Given the description of an element on the screen output the (x, y) to click on. 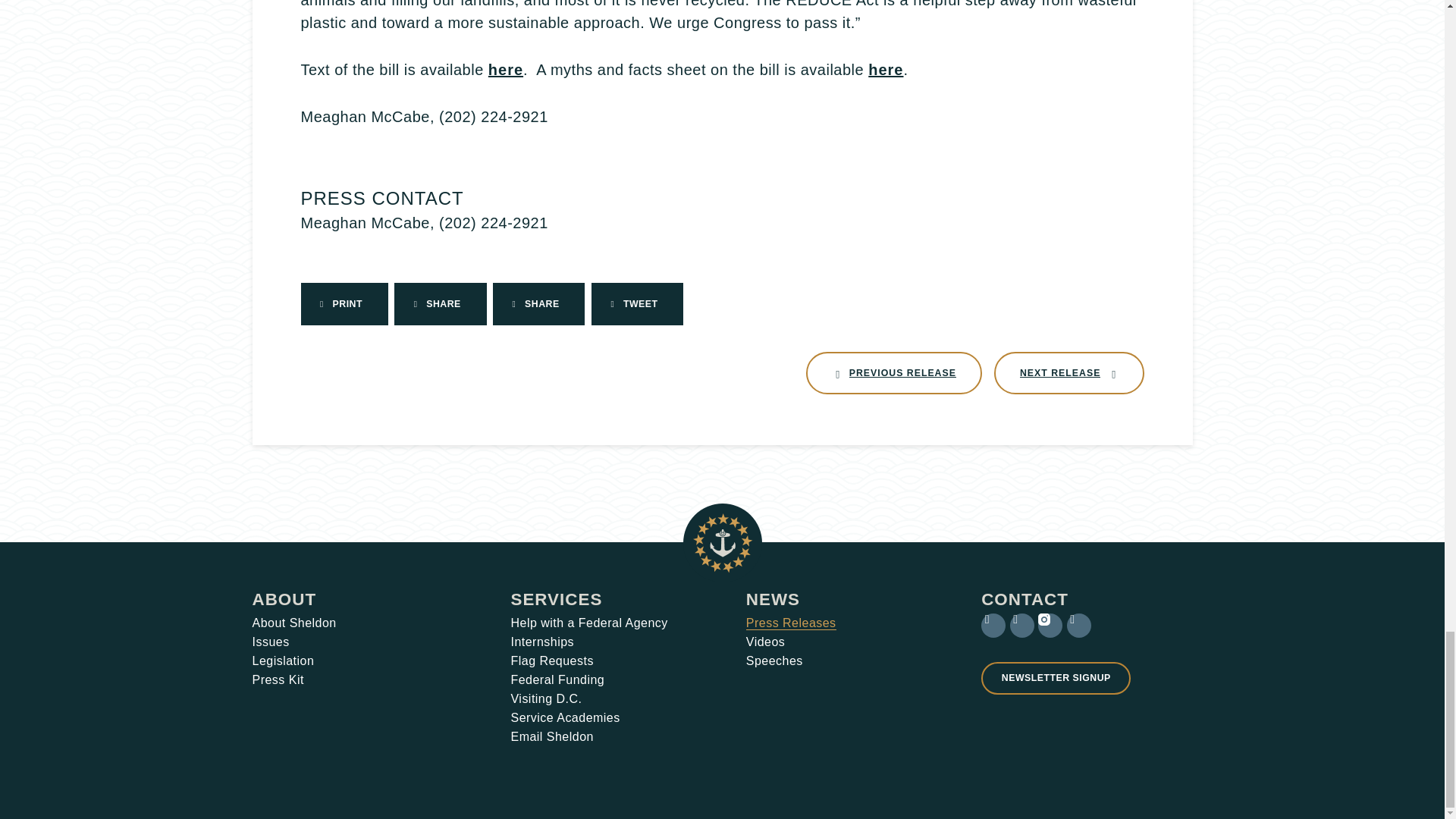
here (893, 372)
ABOUT (884, 69)
About Sheldon (283, 599)
Issues (1069, 372)
here (293, 622)
